Given the description of an element on the screen output the (x, y) to click on. 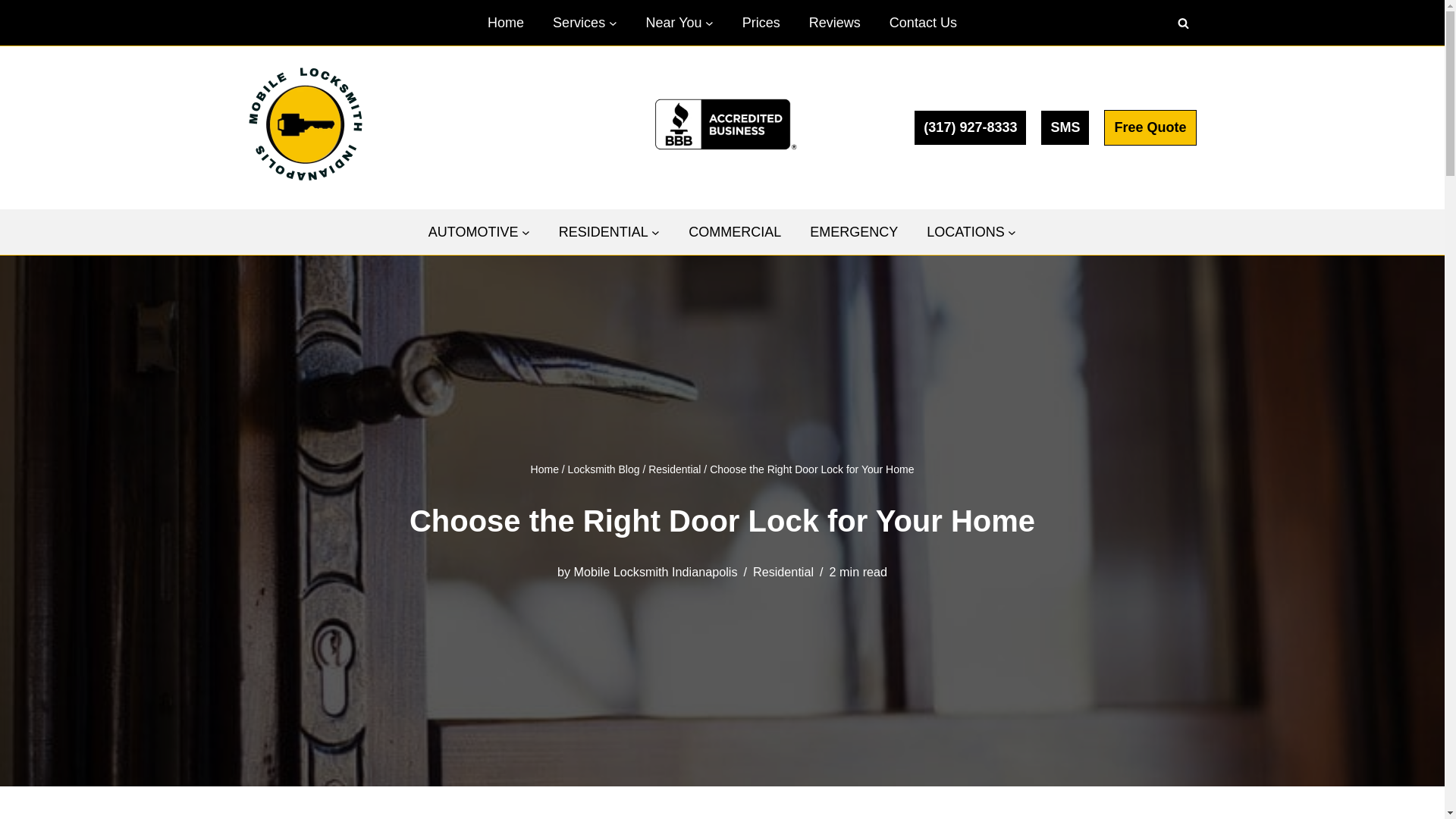
Home (505, 23)
Posts by Mobile Locksmith Indianapolis (655, 571)
Prices (761, 23)
Services (579, 23)
Reviews (834, 23)
Near You (673, 23)
Skip to content (11, 31)
Contact Us (922, 23)
Homepage of Mobile Locksmith Indianapolis website (505, 23)
